Given the description of an element on the screen output the (x, y) to click on. 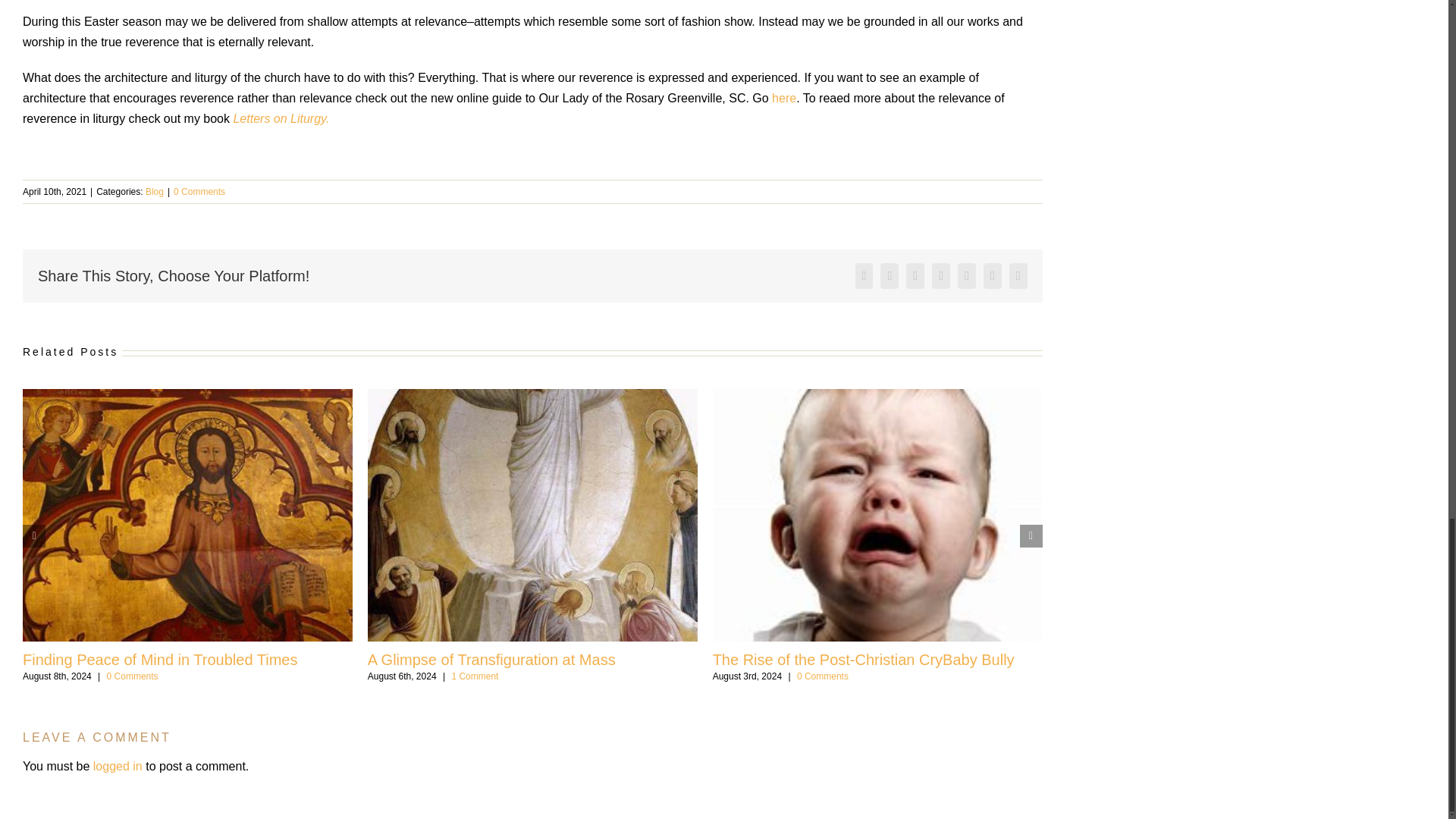
A Glimpse of Transfiguration at Mass (491, 659)
Finding Peace of Mind in Troubled Times (160, 659)
The Rise of the Post-Christian CryBaby Bully (863, 659)
